Given the description of an element on the screen output the (x, y) to click on. 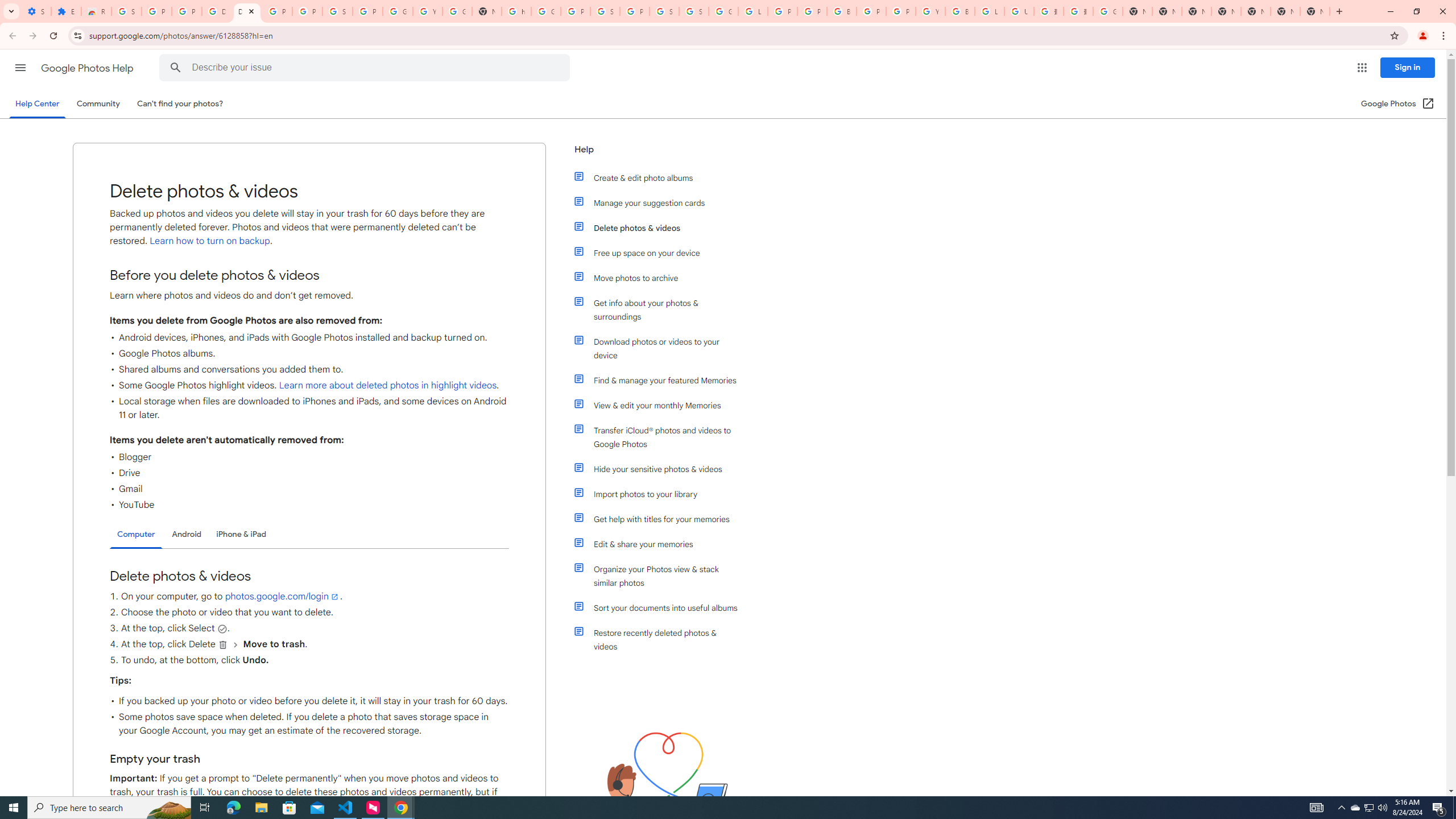
Delete (223, 644)
Select (221, 628)
Sort your documents into useful albums (661, 607)
YouTube (930, 11)
Settings - On startup (36, 11)
Delete photos & videos (661, 227)
Google Photos Help (87, 68)
